Given the description of an element on the screen output the (x, y) to click on. 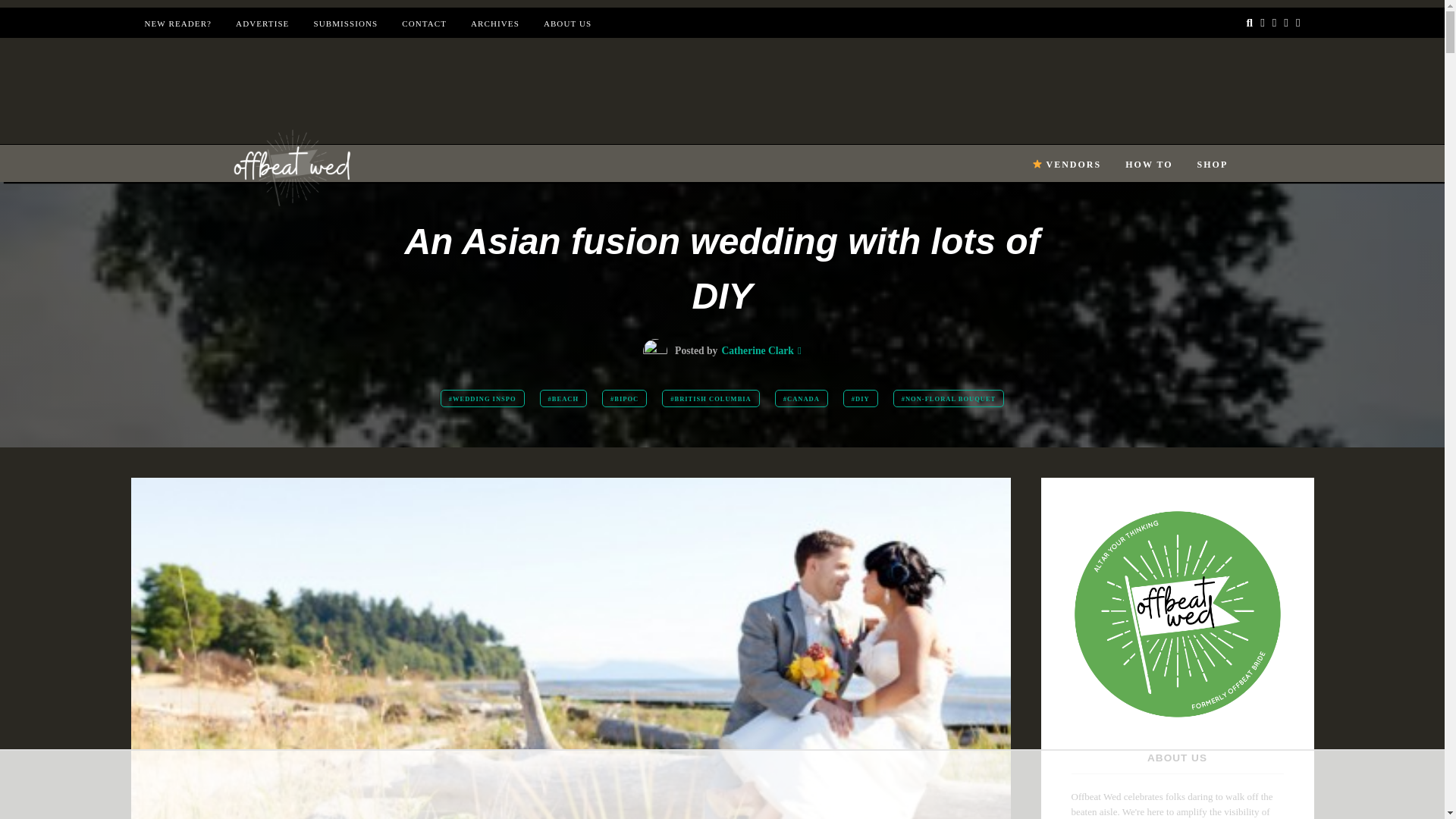
CONTACT (423, 22)
Posts by Catherine Clark (756, 350)
ABOUT US (567, 22)
ADVERTISE (261, 22)
ARCHIVES (494, 22)
SUBMISSIONS (345, 22)
VENDORS (1066, 164)
HOW TO (1148, 164)
NEW READER? (177, 22)
Catherine Clark (756, 350)
